Given the description of an element on the screen output the (x, y) to click on. 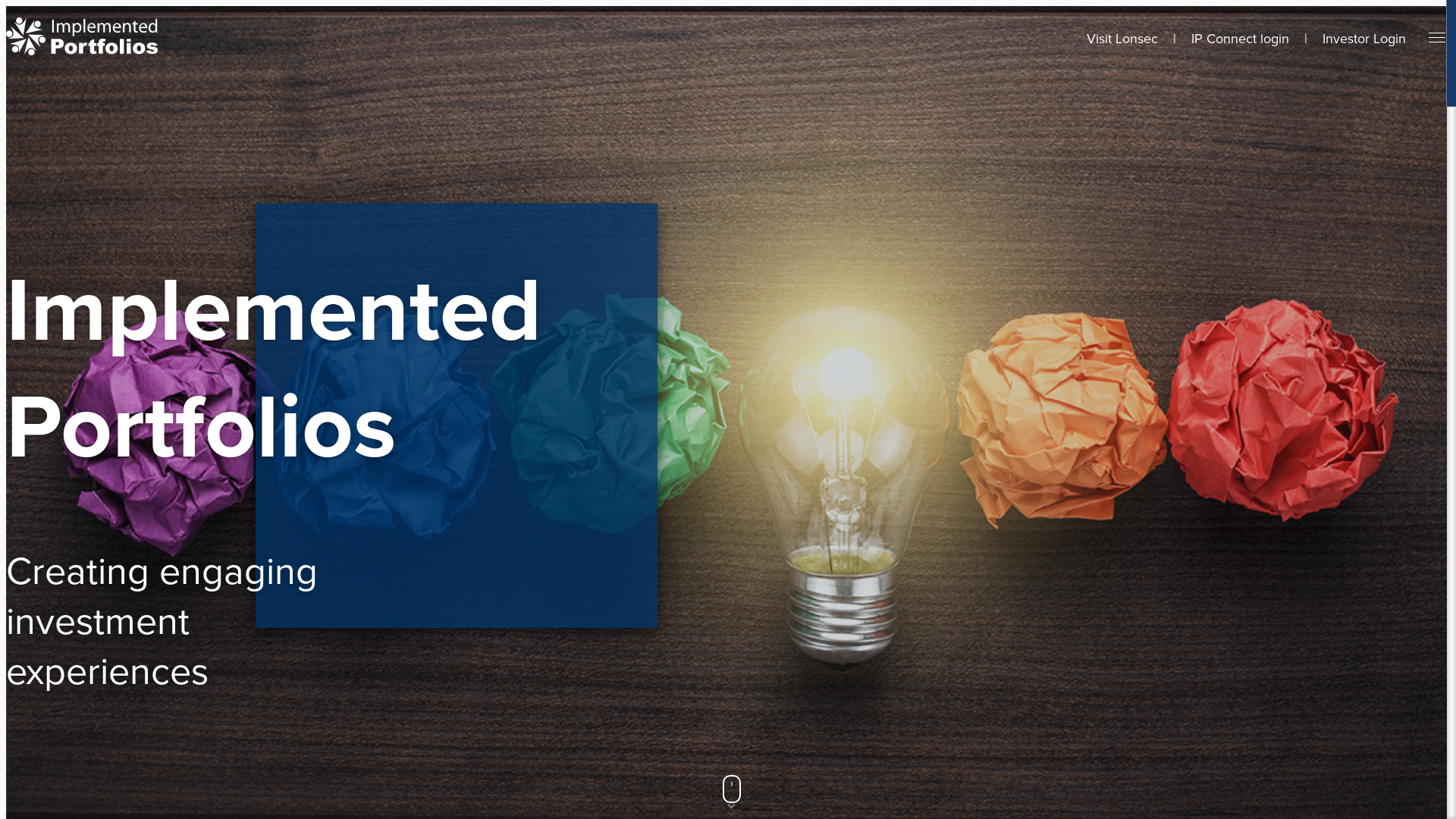
Investor Login Element type: text (1363, 38)
Visit Lonsec Element type: text (1121, 38)
IP Connect login Element type: text (1240, 38)
